Given the description of an element on the screen output the (x, y) to click on. 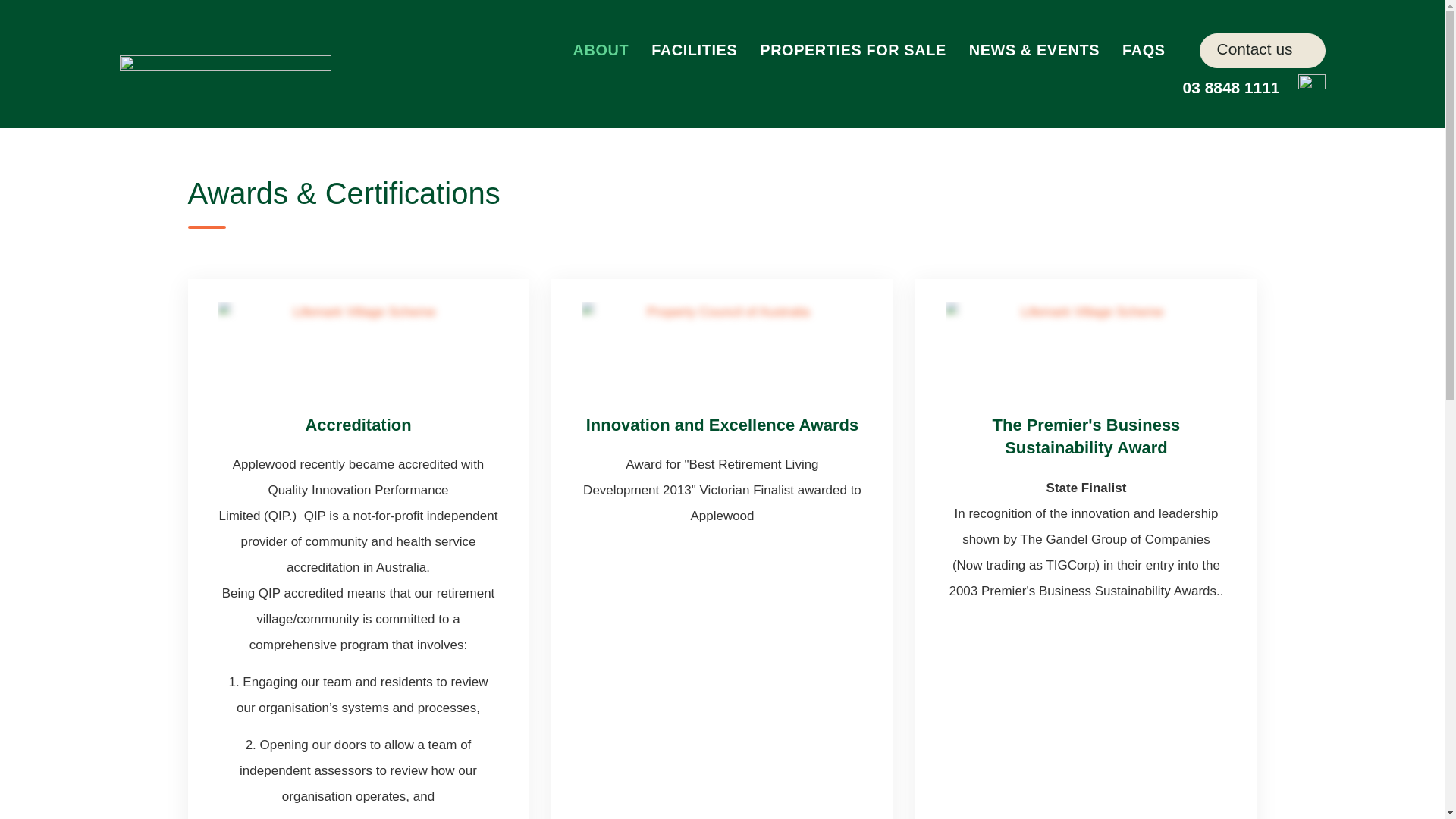
Contact us (1261, 50)
ABOUT (601, 50)
FACILITIES (694, 50)
FAQS (1143, 50)
PROPERTIES FOR SALE (852, 50)
03 8848 1111 (1213, 88)
